Given the description of an element on the screen output the (x, y) to click on. 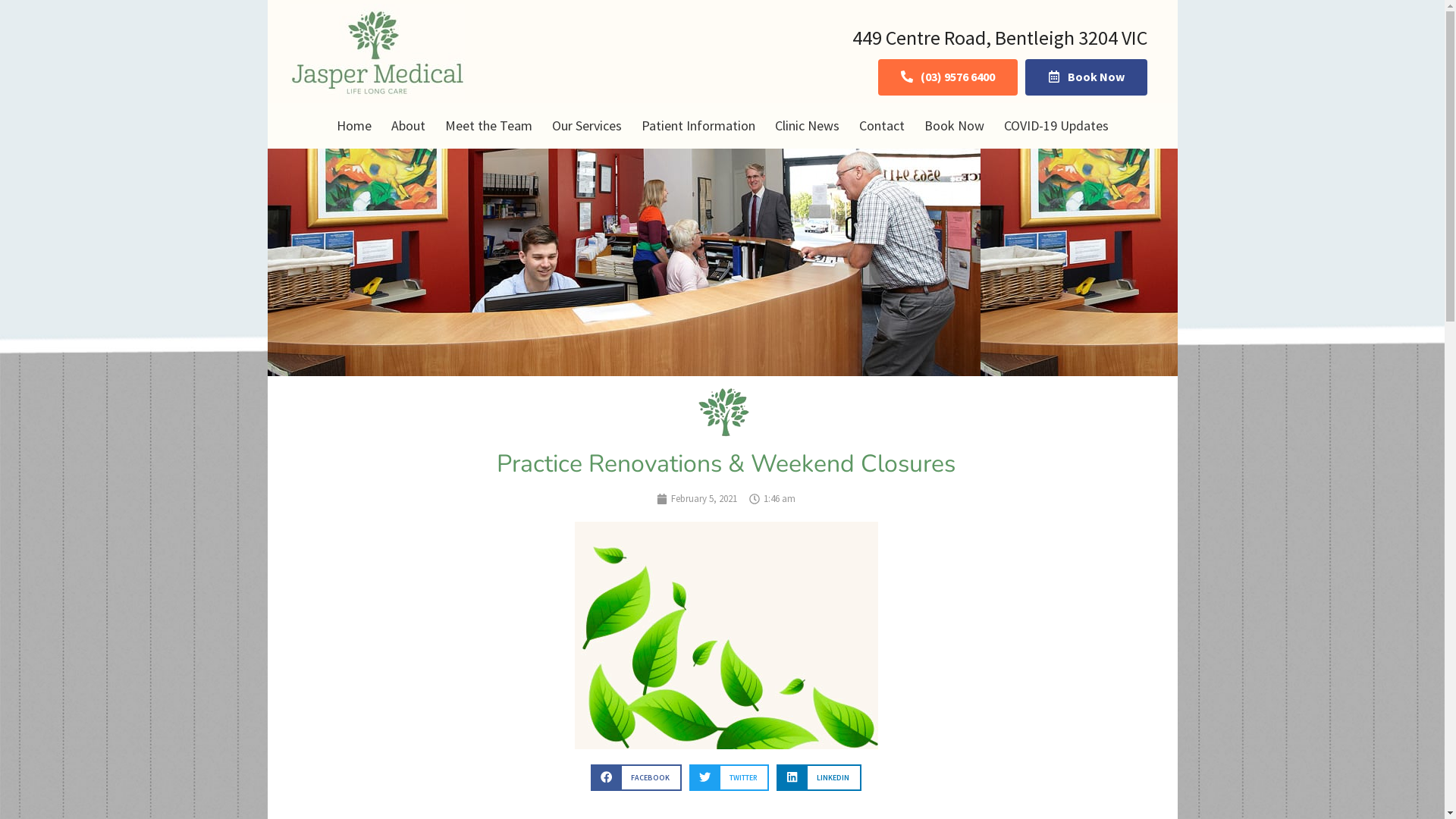
COVID-19 Updates Element type: text (1055, 125)
February 5, 2021 Element type: text (696, 498)
Patient Information Element type: text (697, 125)
Meet the Team Element type: text (488, 125)
Contact Element type: text (881, 125)
Our Services Element type: text (585, 125)
Book Now Element type: text (1086, 77)
(03) 9576 6400 Element type: text (947, 77)
About Element type: text (407, 125)
Book Now Element type: text (954, 125)
Clinic News Element type: text (806, 125)
Home Element type: text (353, 125)
